Given the description of an element on the screen output the (x, y) to click on. 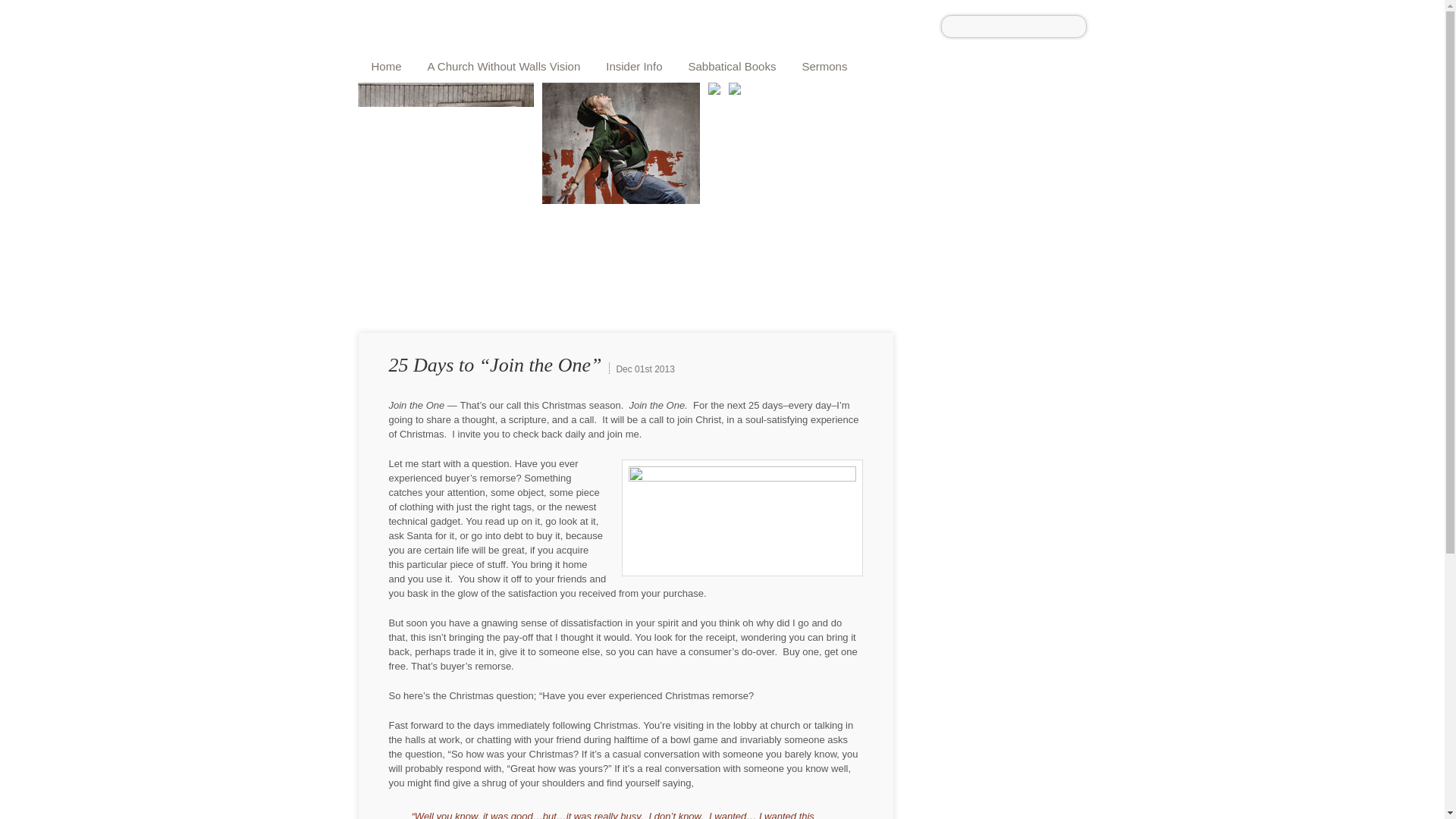
A Church Without Walls Vision (504, 64)
Search (1074, 23)
ResizeImage (742, 517)
Insider Info (633, 64)
Search (1074, 23)
Sermons (824, 64)
Home (386, 64)
Sabbatical Books (731, 64)
